Given the description of an element on the screen output the (x, y) to click on. 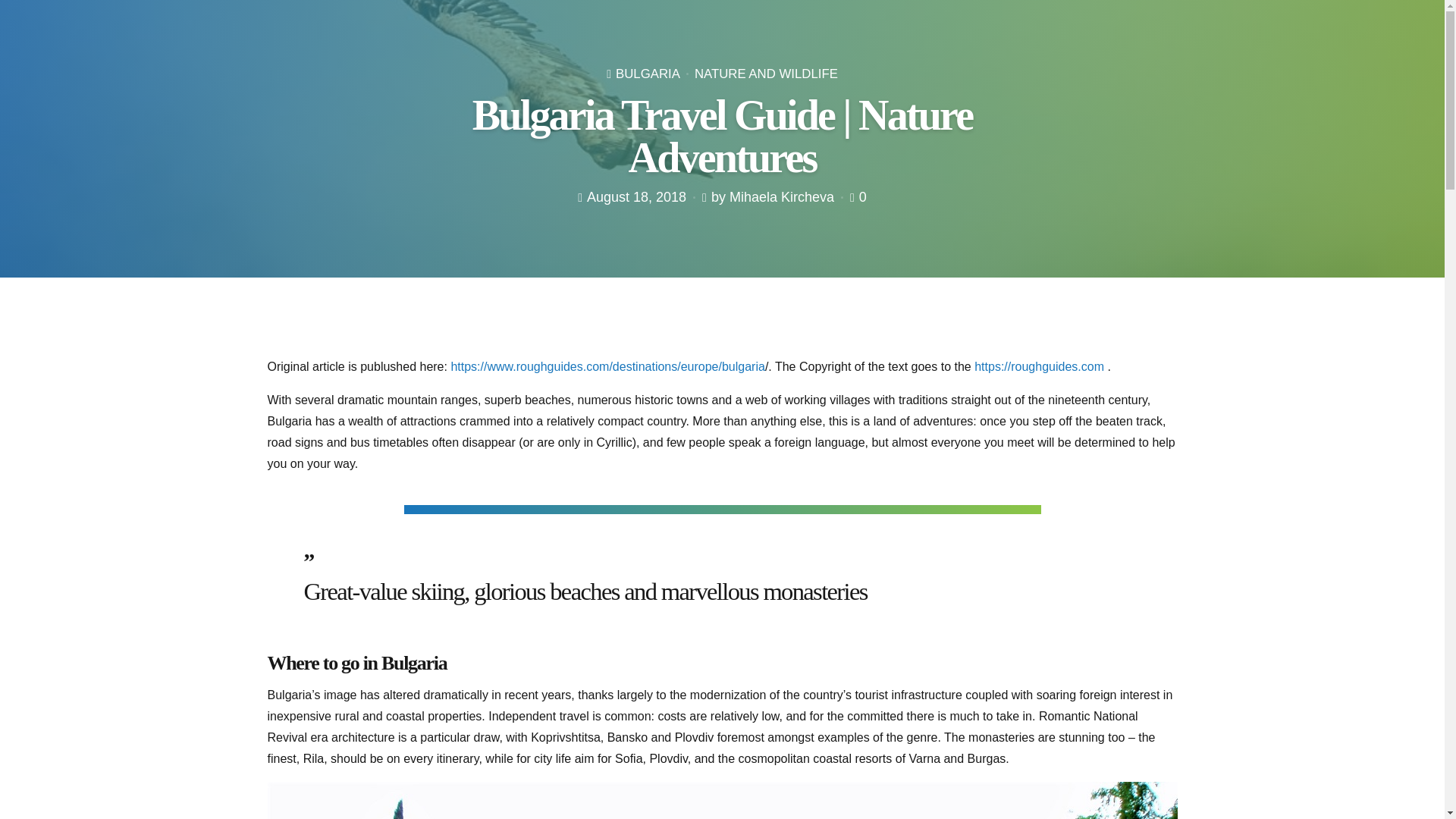
BULGARIA (647, 73)
by Mihaela Kircheva (772, 197)
NATURE AND WILDLIFE (758, 73)
